Given the description of an element on the screen output the (x, y) to click on. 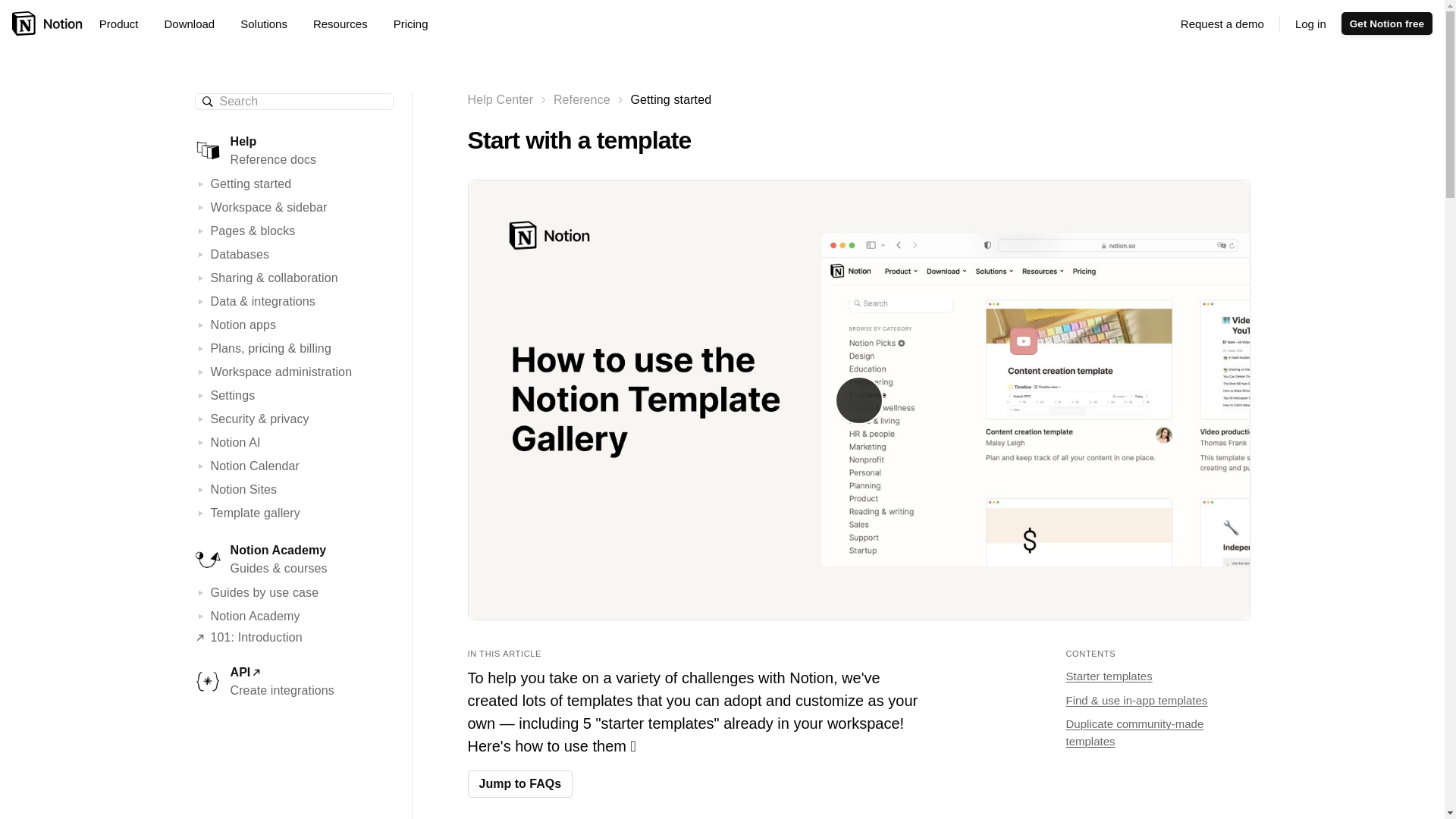
Resources (345, 23)
Solutions (268, 23)
Expand Template gallery section (201, 512)
Pricing (410, 23)
Expand Notion Calendar section (201, 466)
Download (193, 23)
Expand Settings section (201, 395)
Expand Notion AI section (201, 442)
Expand Notion Academy section (201, 616)
Expand Notion Sites section (201, 490)
Expand Workspace administration section (201, 372)
Expand Guides by use case section (201, 592)
Product (124, 23)
Expand Getting started section (201, 184)
Expand Notion apps section (201, 325)
